Given the description of an element on the screen output the (x, y) to click on. 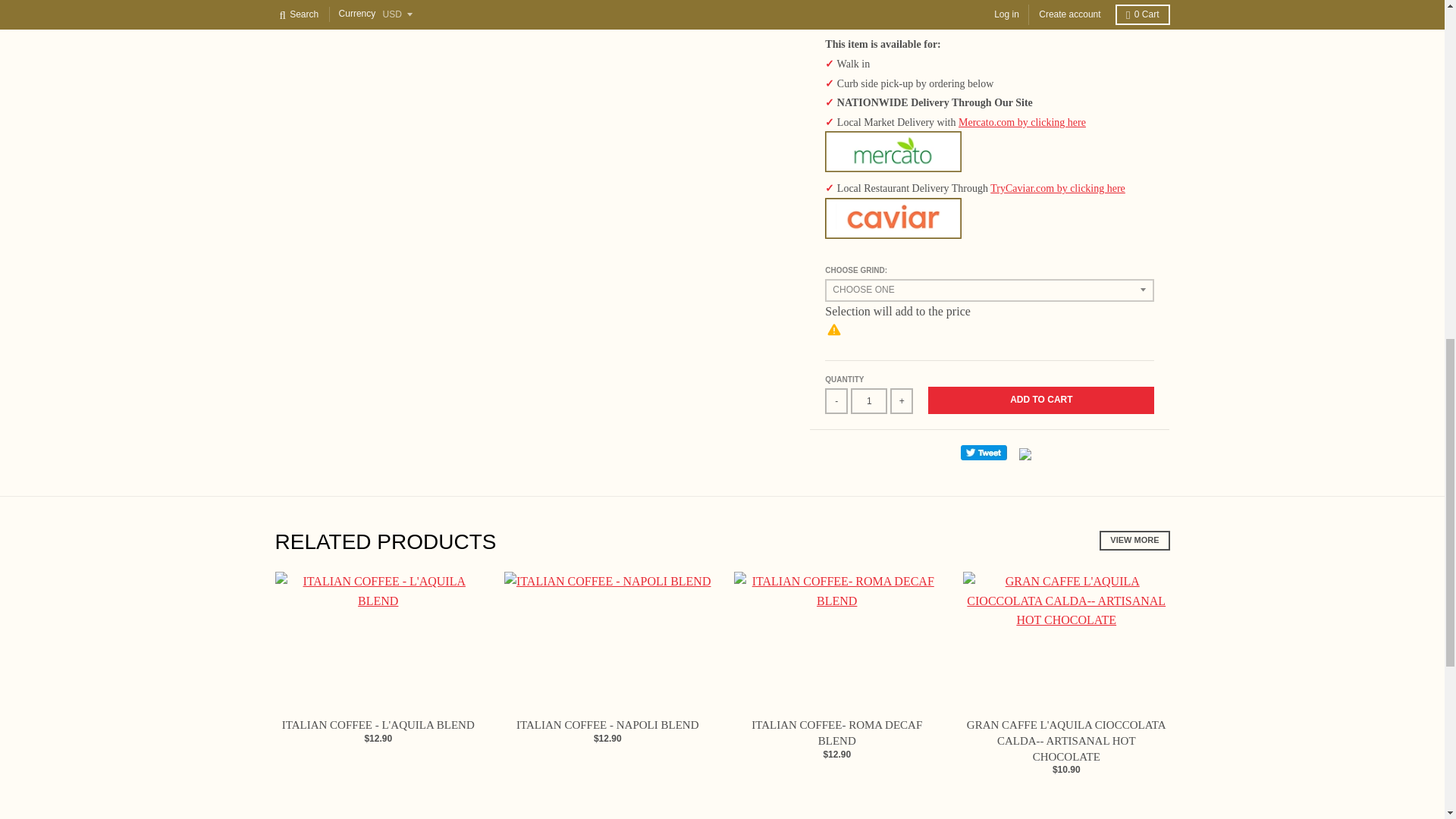
1 (868, 401)
